Given the description of an element on the screen output the (x, y) to click on. 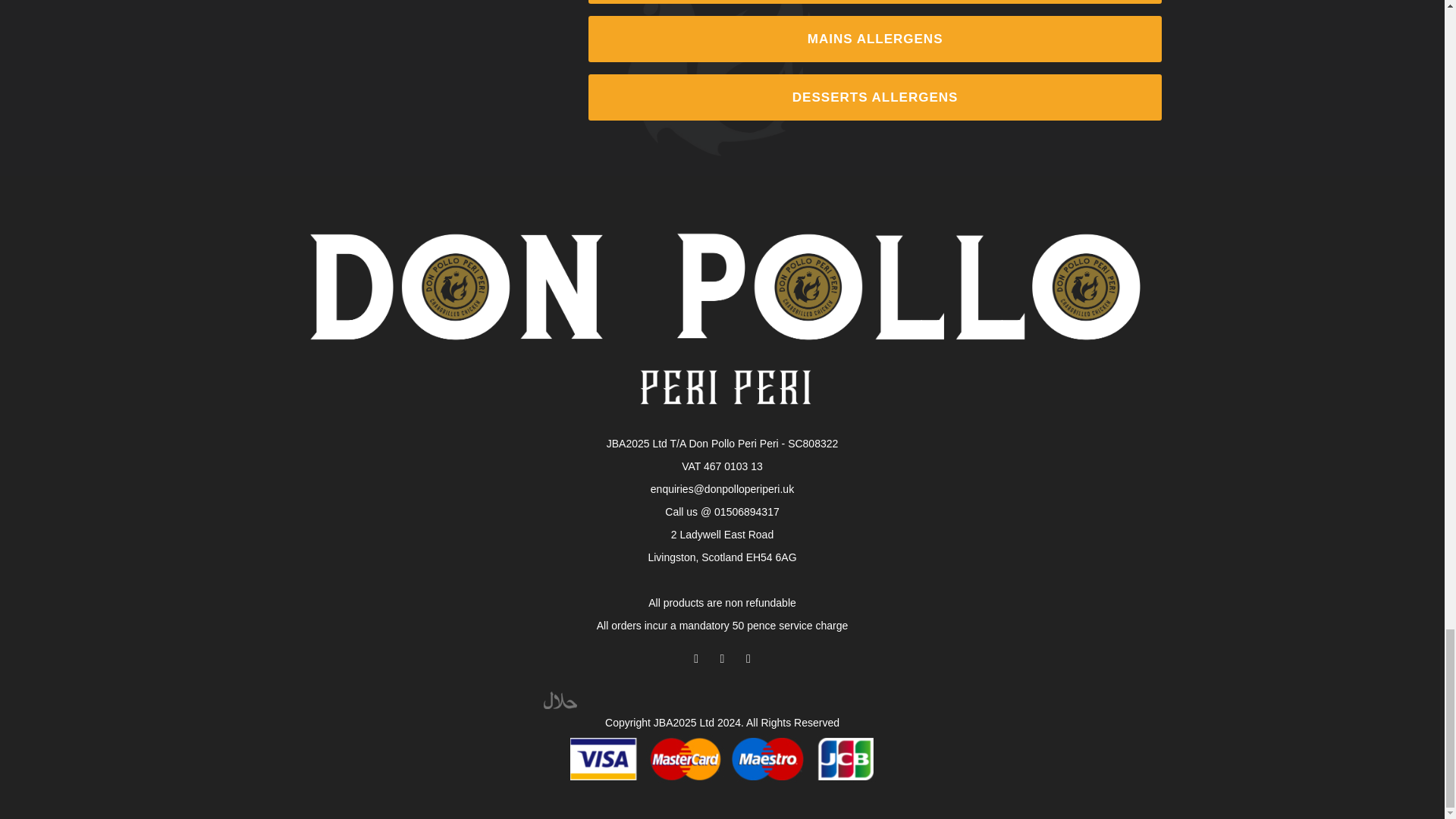
MAINS ALLERGENS (874, 38)
DESSERTS ALLERGENS (874, 97)
